Given the description of an element on the screen output the (x, y) to click on. 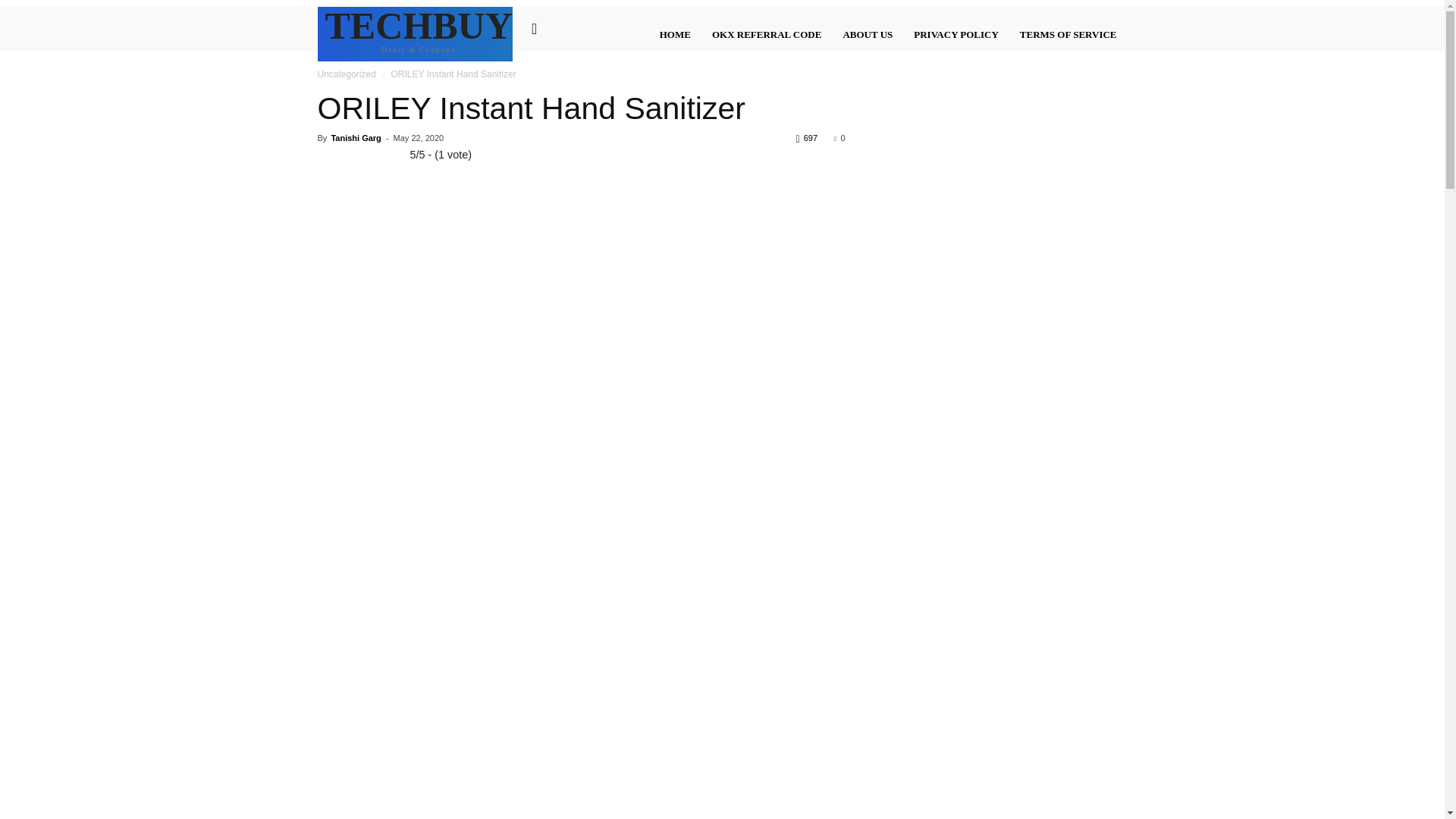
ABOUT US (866, 34)
PRIVACY POLICY (955, 34)
OKX REFERRAL CODE (766, 34)
View all posts in Uncategorized (346, 73)
TERMS OF SERVICE (1067, 34)
HOME (675, 34)
